Given the description of an element on the screen output the (x, y) to click on. 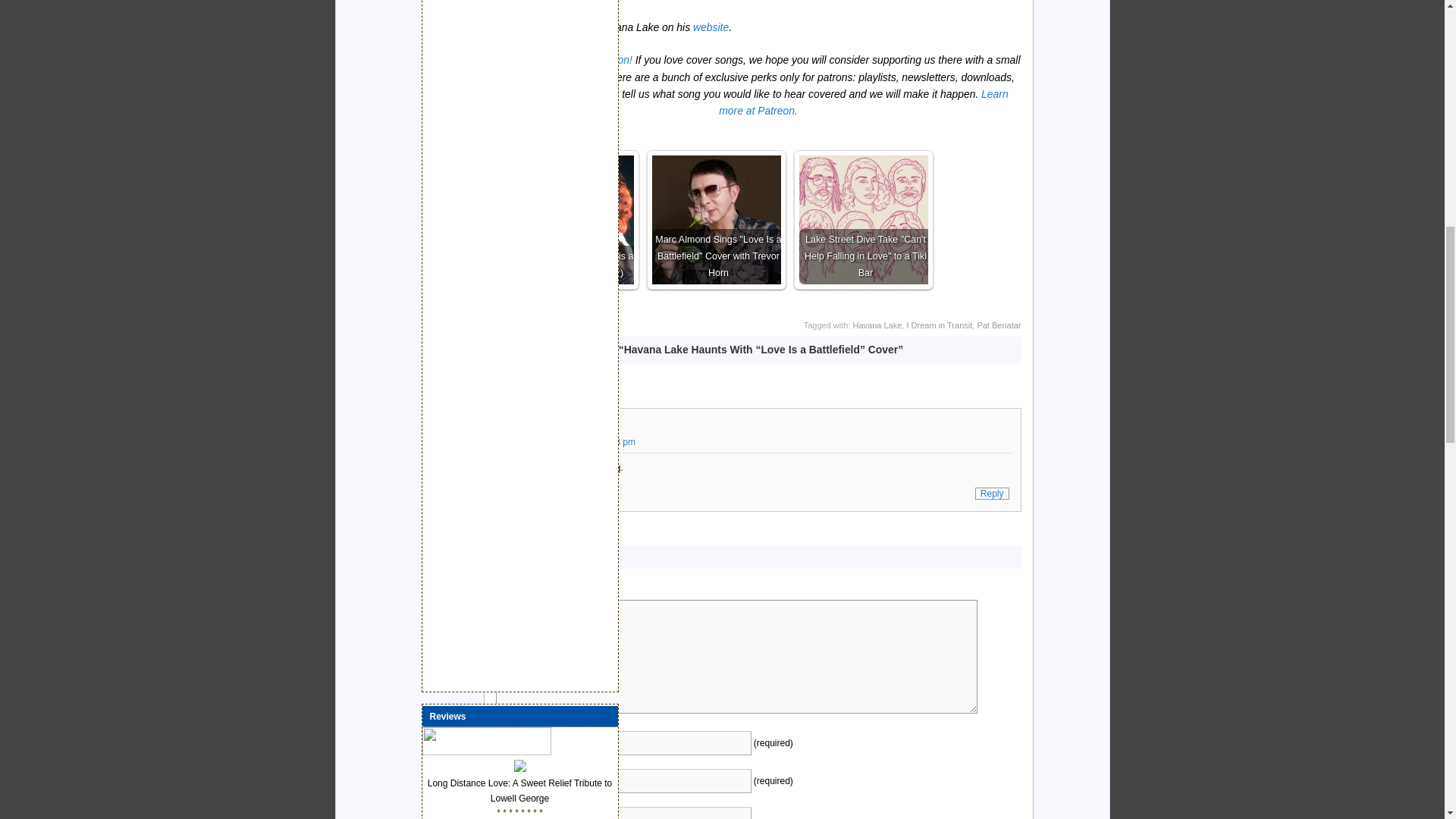
Learn more at Patreon. (863, 102)
Havana Lake (877, 325)
I Dream in Transit (938, 325)
website (711, 27)
Pat Benatar (998, 325)
March 15, 2012 at 9:28 pm (579, 441)
News (581, 325)
